Given the description of an element on the screen output the (x, y) to click on. 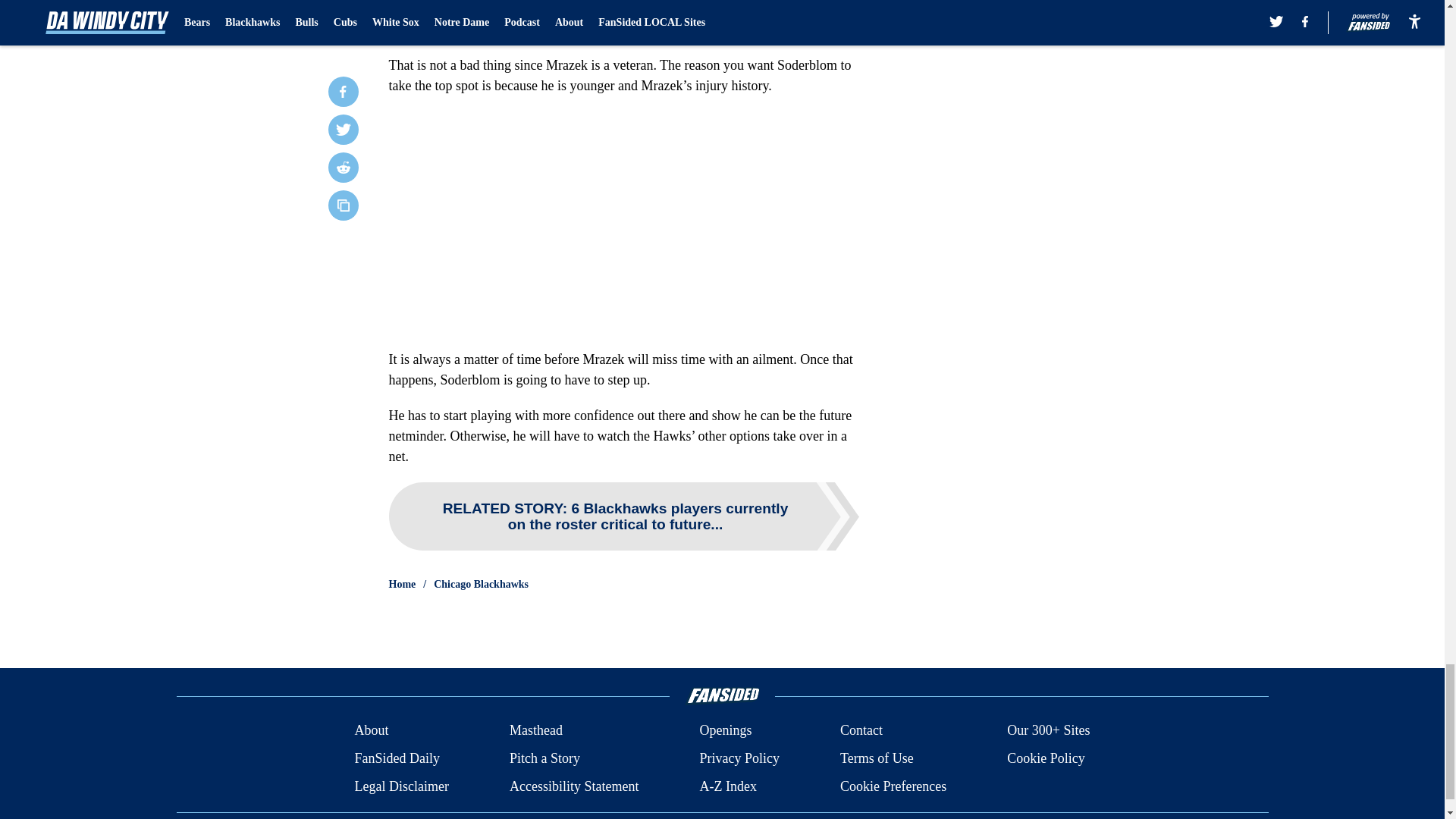
Masthead (535, 730)
About (370, 730)
Chicago Blackhawks (480, 584)
his teammate, Petr Mrazek (649, 29)
Home (401, 584)
